Given the description of an element on the screen output the (x, y) to click on. 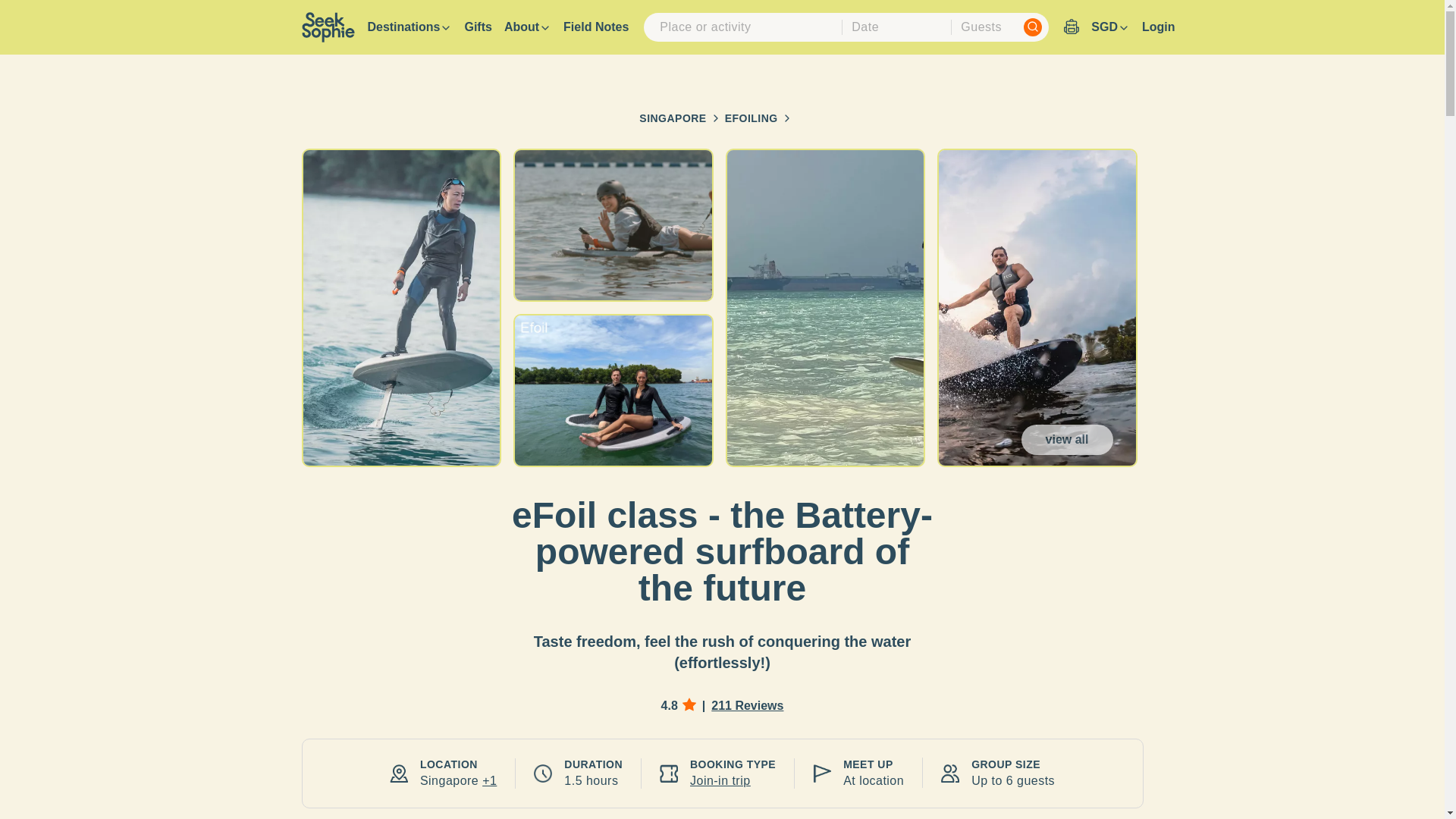
EFOILING (751, 118)
Field Notes (595, 26)
Gifts (478, 26)
SINGAPORE (672, 118)
Login (1157, 26)
Chat (1406, 779)
view all (1067, 440)
